Given the description of an element on the screen output the (x, y) to click on. 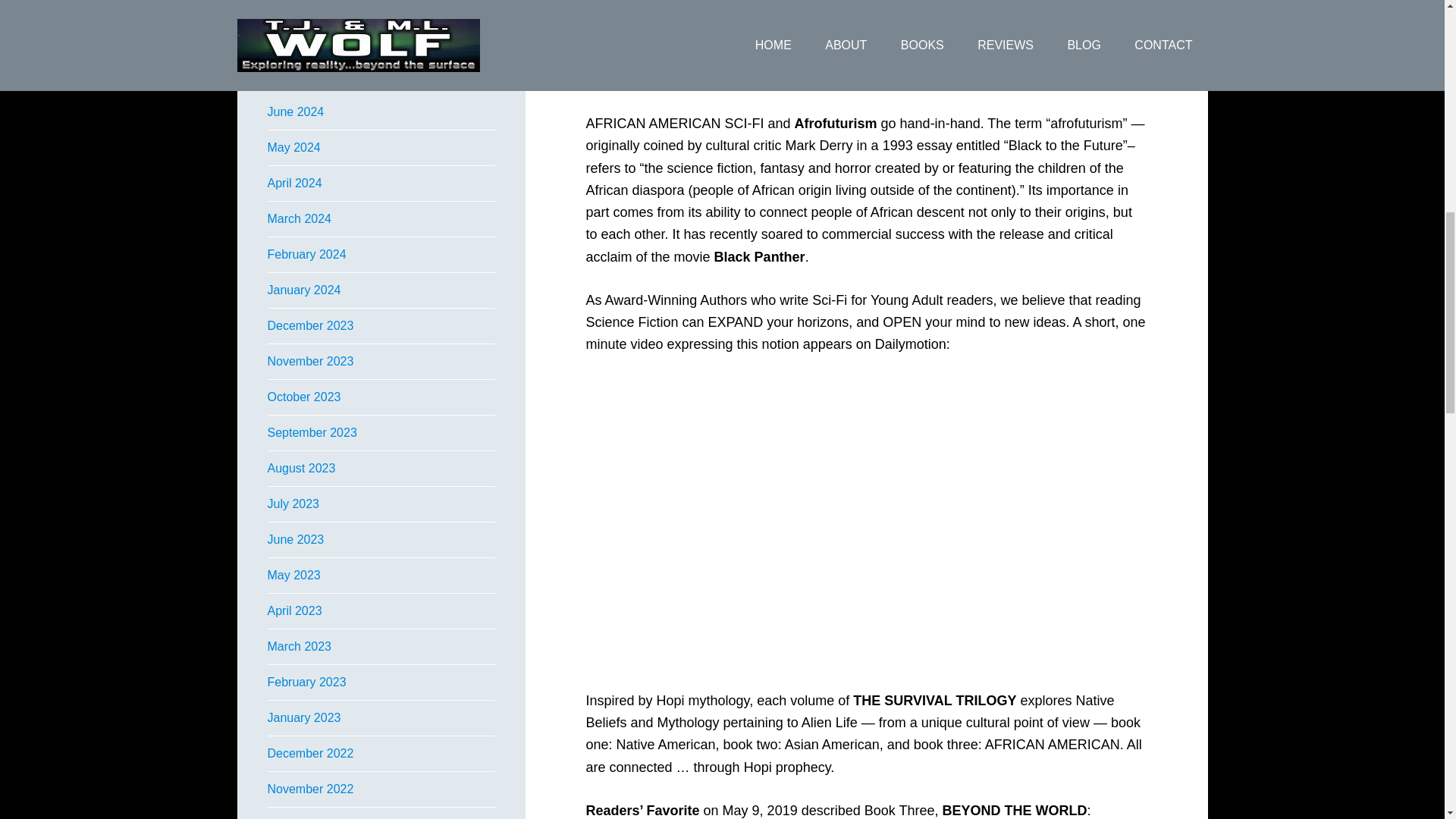
March 2023 (298, 645)
June 2023 (294, 539)
May 2024 (293, 146)
November 2023 (309, 360)
June 2024 (294, 111)
January 2024 (303, 289)
February 2023 (306, 681)
July 2023 (292, 503)
April 2024 (293, 182)
May 2023 (293, 574)
August 2023 (300, 468)
September 2023 (311, 431)
January 2023 (303, 717)
February 2024 (306, 254)
